Given the description of an element on the screen output the (x, y) to click on. 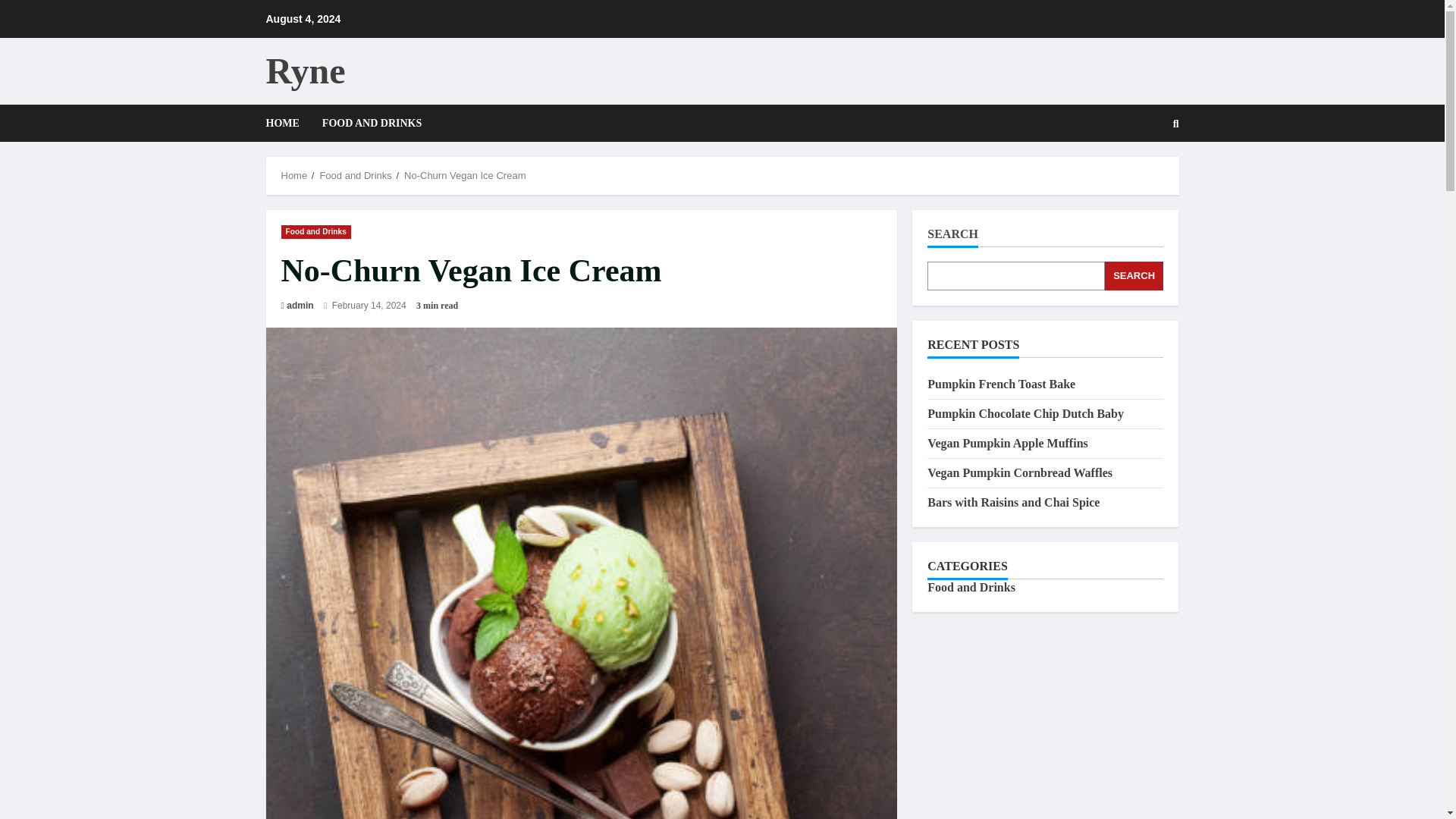
Bars with Raisins and Chai Spice (1013, 502)
Home (294, 174)
Food and Drinks (315, 231)
SEARCH (1134, 275)
Vegan Pumpkin Apple Muffins (1007, 442)
Pumpkin French Toast Bake (1001, 383)
HOME (287, 122)
Search (1139, 174)
Pumpkin Chocolate Chip Dutch Baby (1025, 413)
Food and Drinks (354, 174)
No-Churn Vegan Ice Cream (464, 174)
Vegan Pumpkin Cornbread Waffles (1019, 472)
FOOD AND DRINKS (366, 122)
Ryne (304, 70)
Food and Drinks (970, 586)
